Given the description of an element on the screen output the (x, y) to click on. 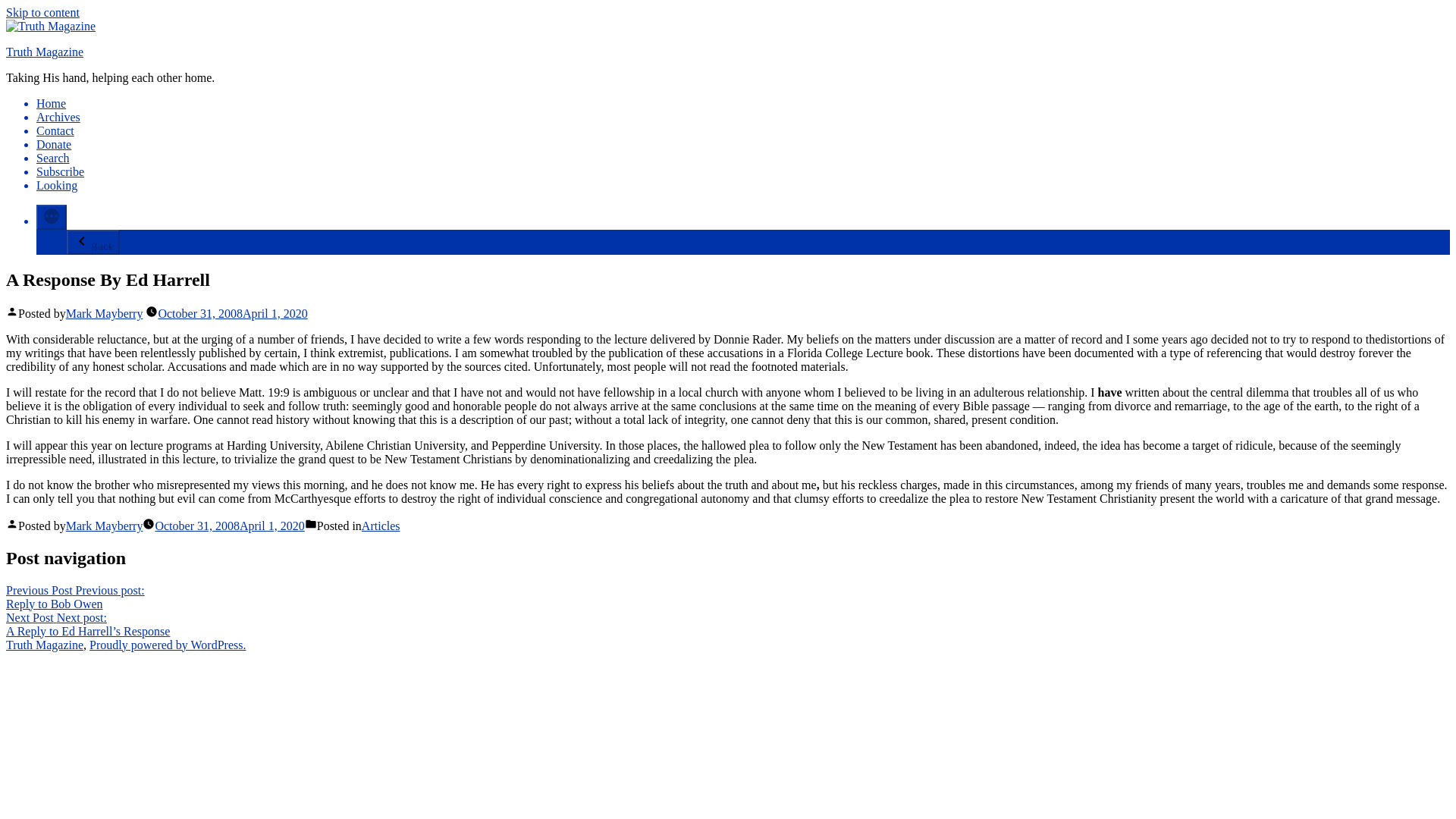
Looking (56, 185)
Search (52, 157)
Archives (58, 116)
Skip to content (42, 11)
Home (50, 103)
Back (92, 242)
Donate (53, 144)
October 31, 2008April 1, 2020 (229, 525)
Contact (74, 596)
